Given the description of an element on the screen output the (x, y) to click on. 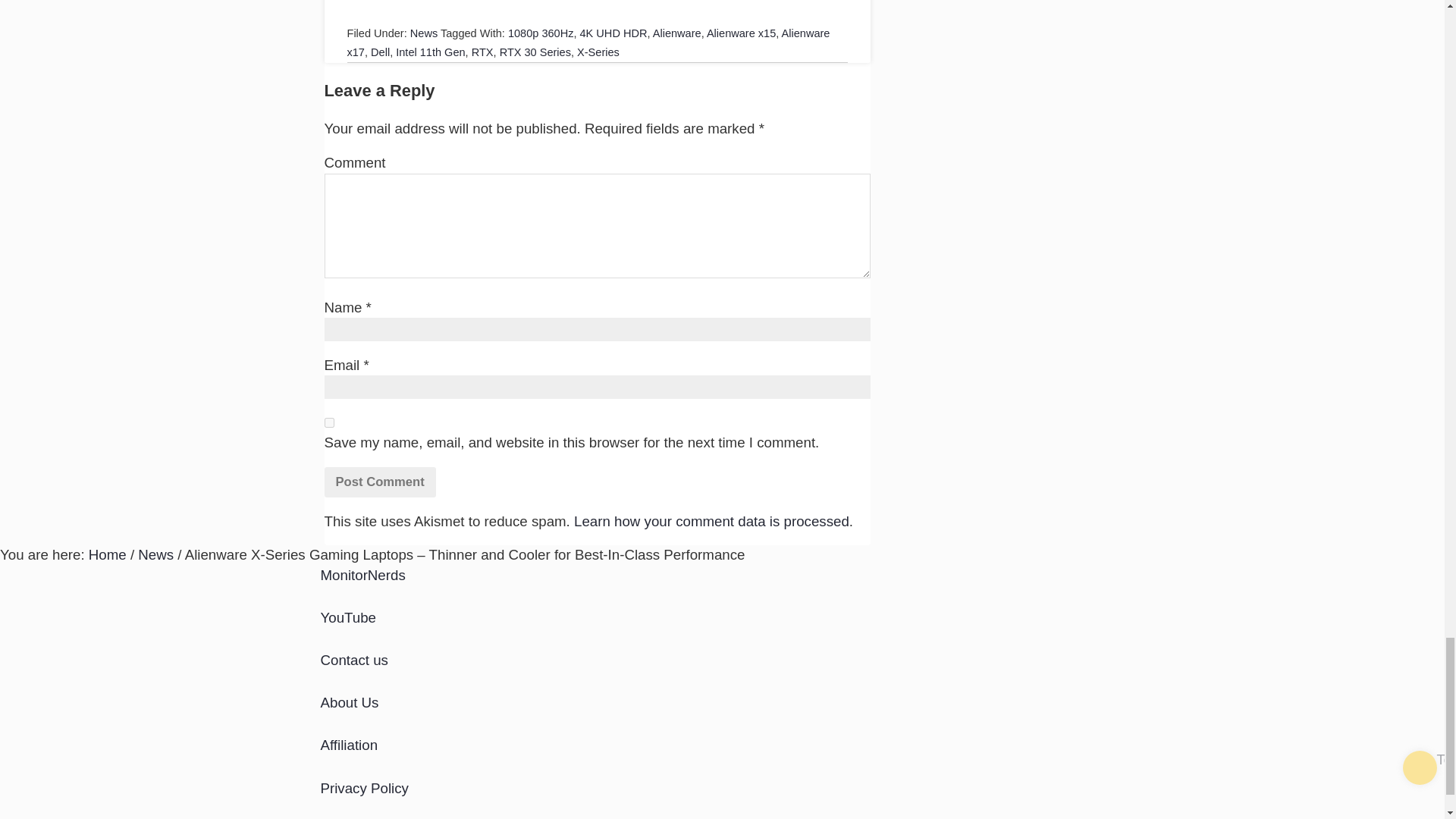
Alienware x15 (741, 33)
News (424, 33)
Post Comment (379, 481)
RTX (482, 51)
Home (107, 554)
1080p 360Hz (540, 33)
X-Series (598, 51)
RTX 30 Series (534, 51)
Intel 11th Gen (430, 51)
Post Comment (379, 481)
